Given the description of an element on the screen output the (x, y) to click on. 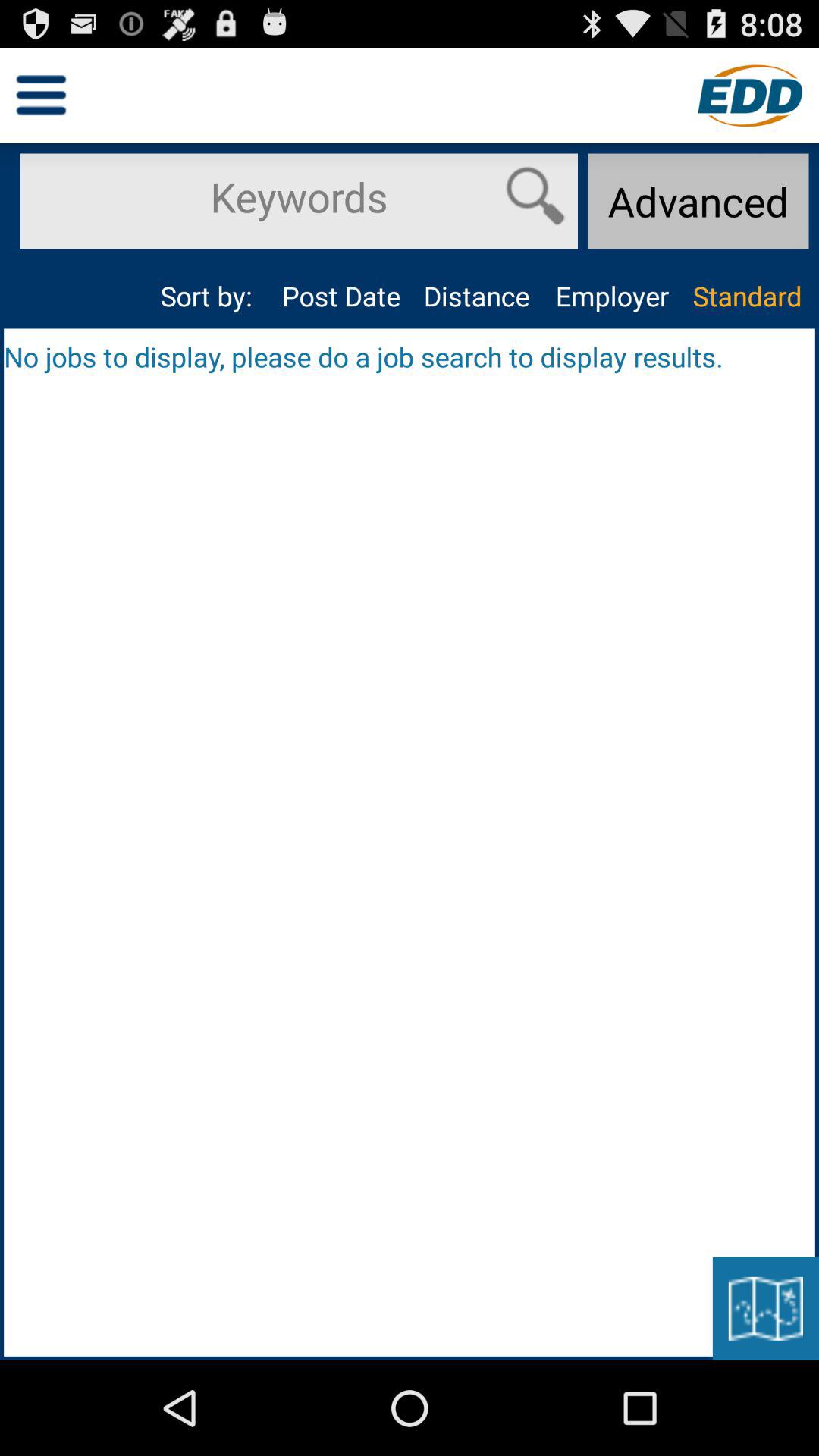
scroll to advanced (698, 201)
